Given the description of an element on the screen output the (x, y) to click on. 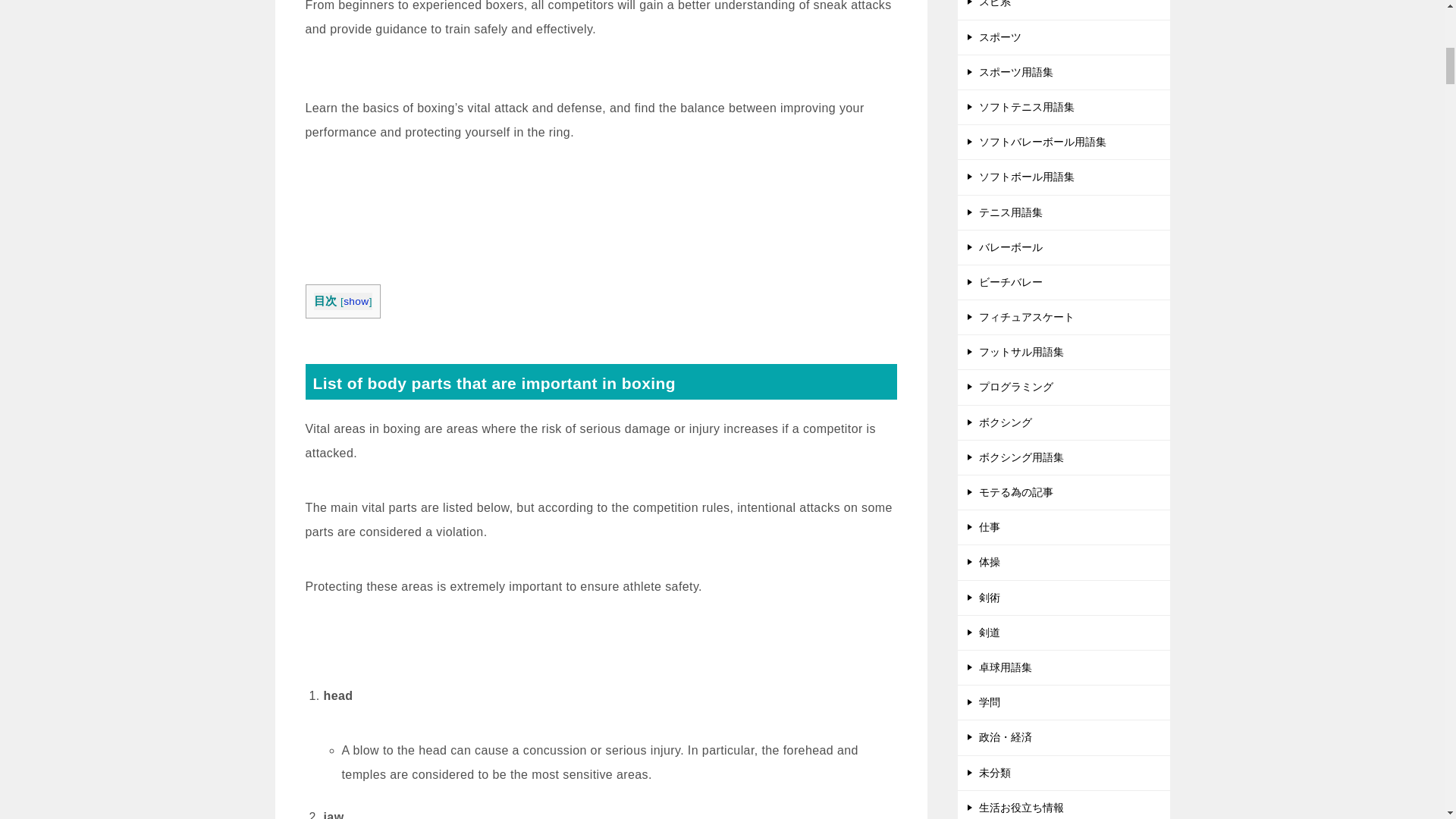
show (356, 301)
